Given the description of an element on the screen output the (x, y) to click on. 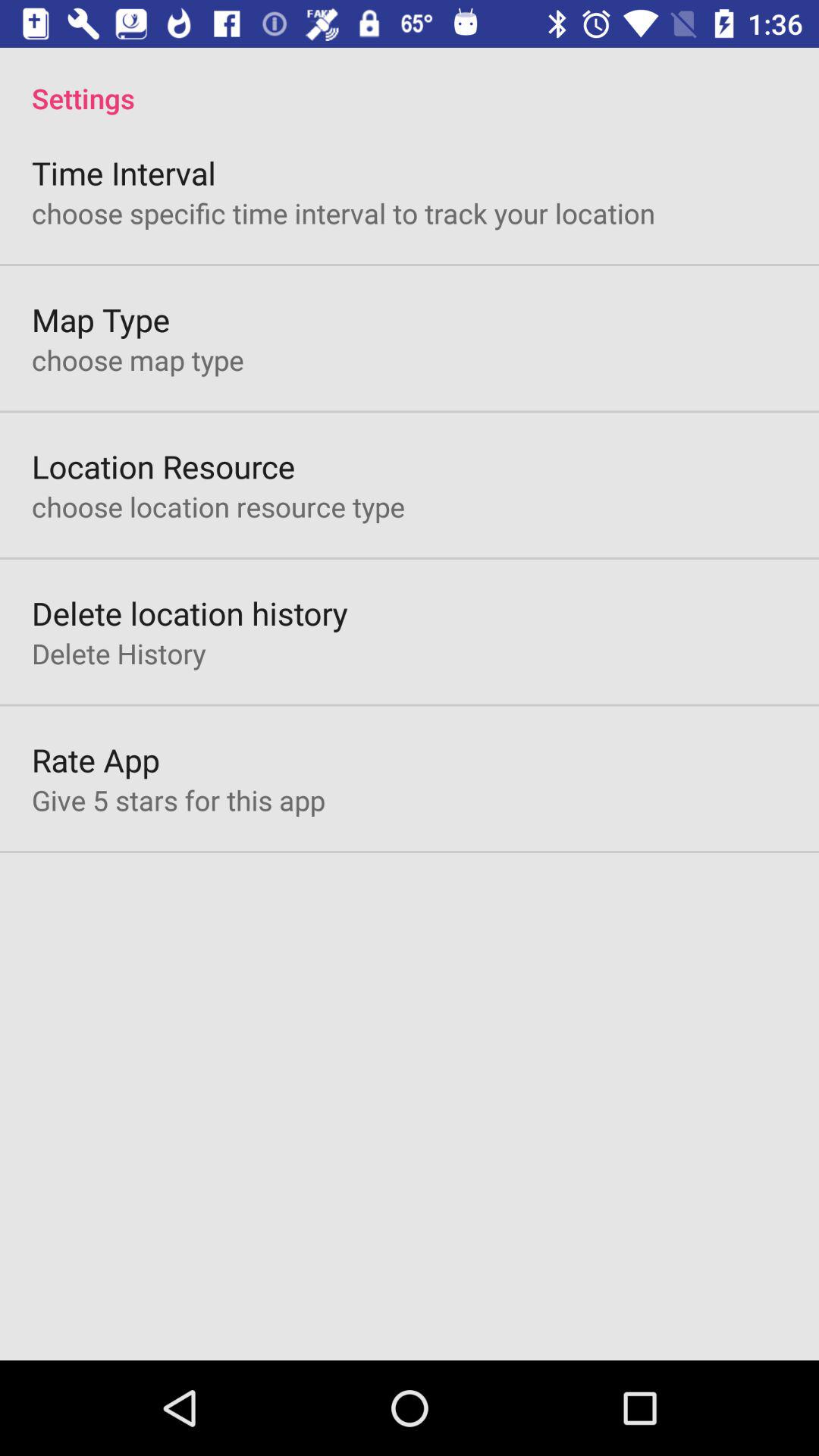
launch the settings app (409, 82)
